Given the description of an element on the screen output the (x, y) to click on. 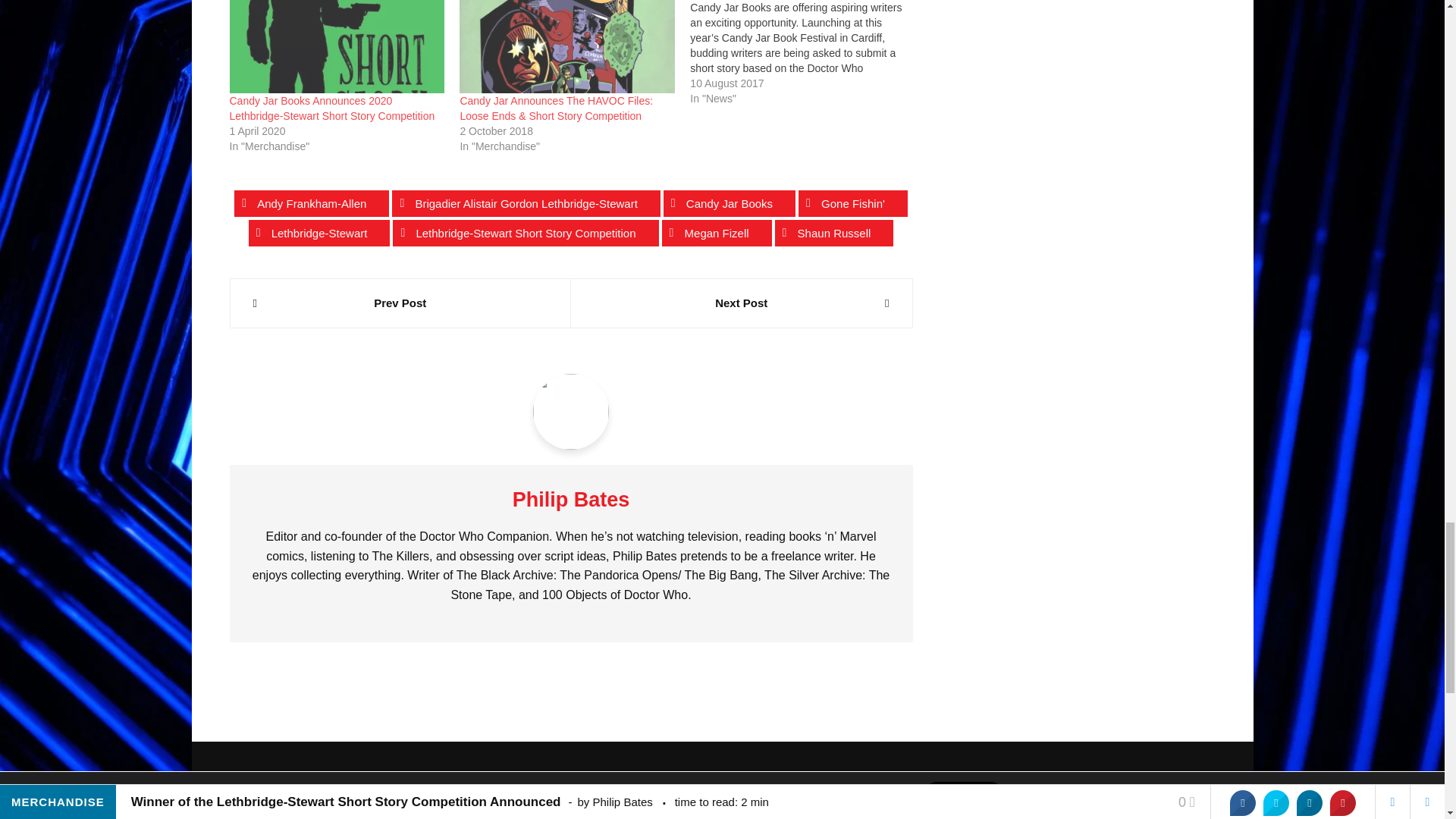
Lethbridge-Stewart South Wales Short Story Competition (805, 53)
